Given the description of an element on the screen output the (x, y) to click on. 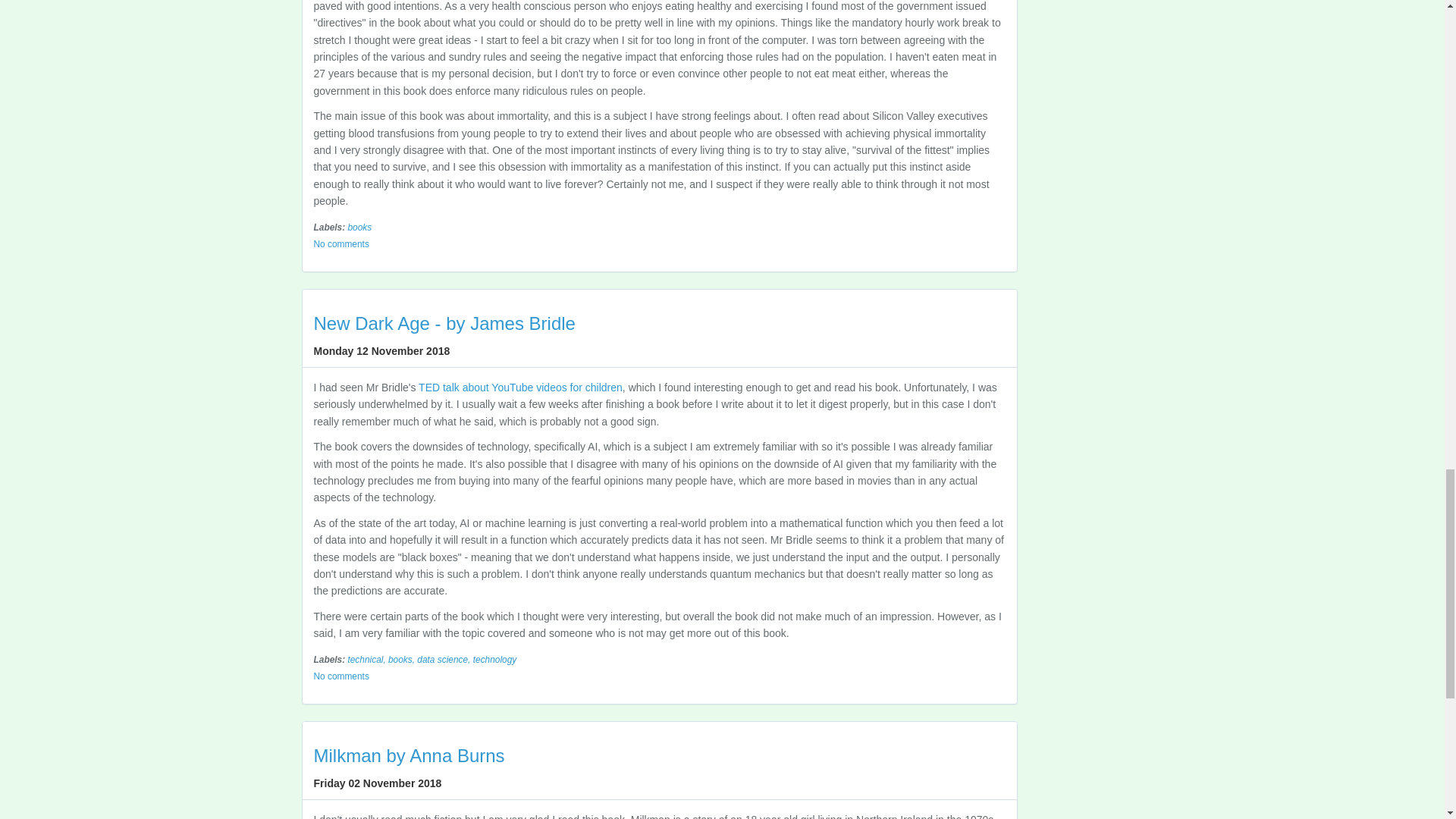
books (359, 226)
data science, (443, 659)
technology (494, 659)
New Dark Age - by James Bridle (444, 322)
No comments (341, 675)
No comments (341, 243)
books, (402, 659)
TED talk about YouTube videos for children (521, 387)
technical, (367, 659)
Milkman by Anna Burns (409, 755)
